Given the description of an element on the screen output the (x, y) to click on. 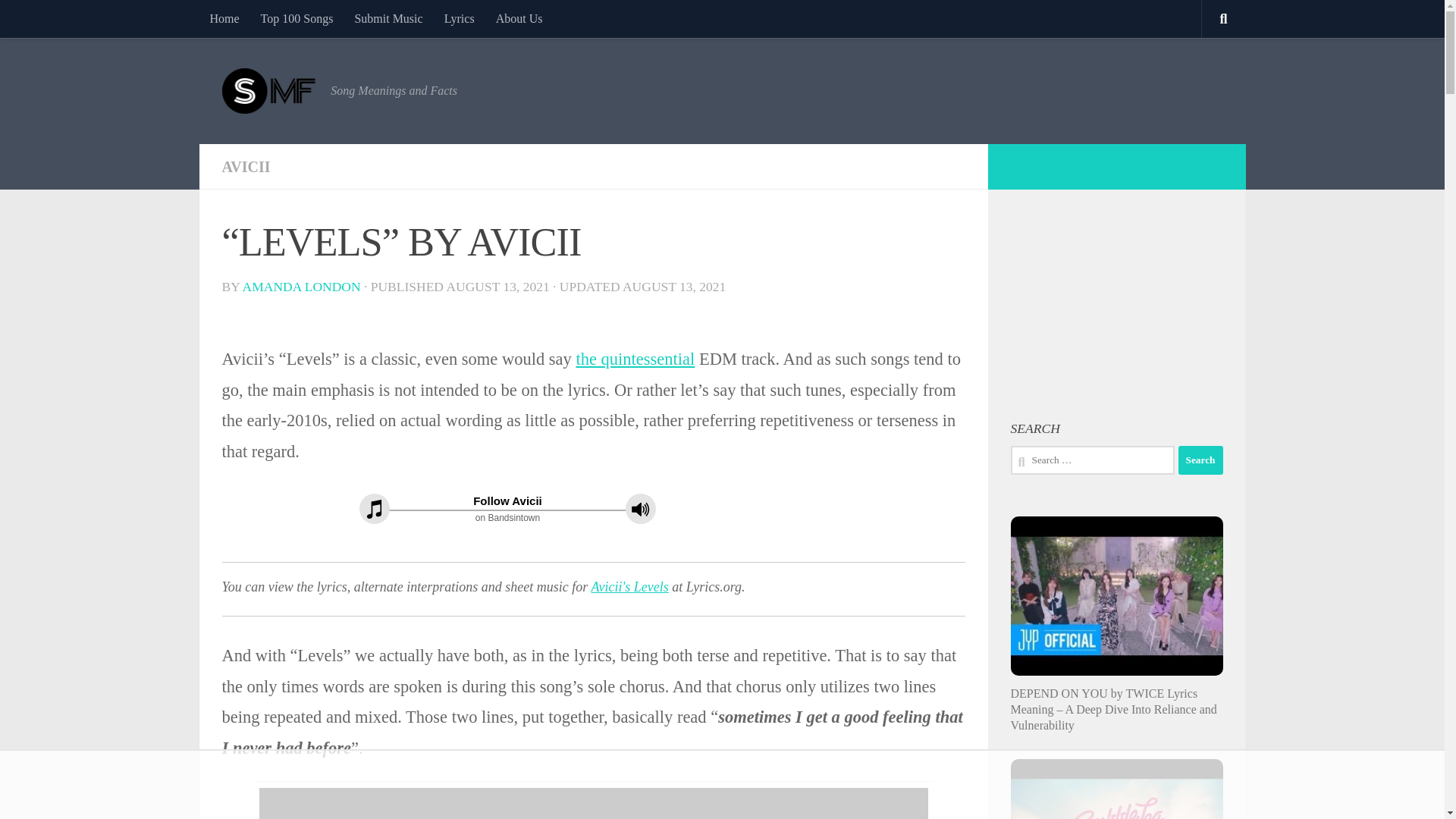
AVICII (245, 166)
AMANDA LONDON (302, 286)
Top 100 Songs (296, 18)
Search (1200, 460)
Lyrics (458, 18)
Posts by Amanda London (302, 286)
Avicii's Levels (629, 586)
Skip to content (59, 20)
Submit Music (387, 18)
the quintessential (634, 358)
Home (223, 18)
Search (1200, 460)
About Us (518, 18)
